Given the description of an element on the screen output the (x, y) to click on. 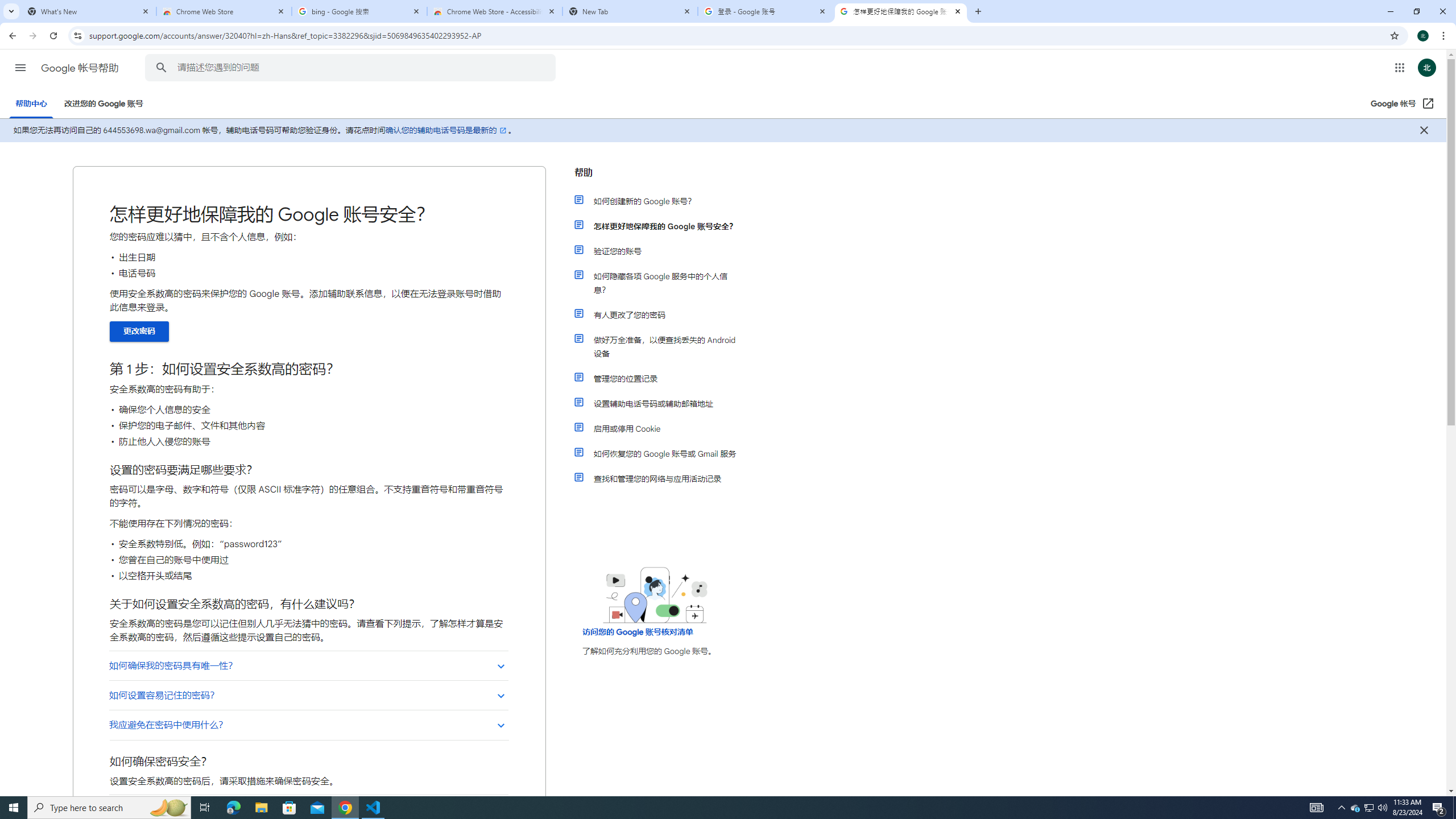
Learning Center home page image (655, 595)
